Given the description of an element on the screen output the (x, y) to click on. 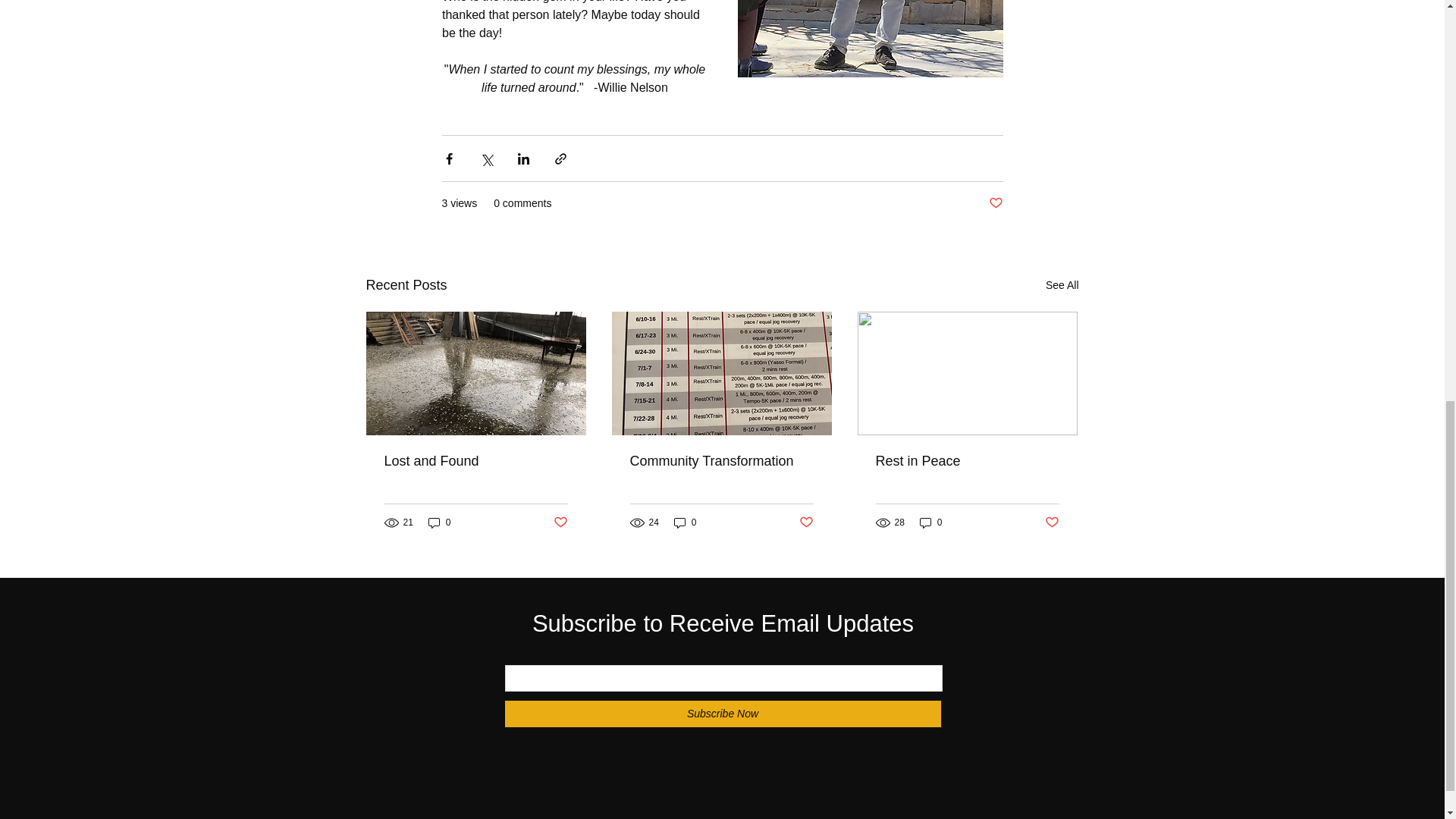
Lost and Found (475, 461)
Post not marked as liked (995, 203)
0 (930, 522)
Subscribe Now (722, 714)
Community Transformation (720, 461)
Rest in Peace (966, 461)
Post not marked as liked (560, 522)
See All (1061, 285)
Post not marked as liked (1052, 522)
Post not marked as liked (806, 522)
